Given the description of an element on the screen output the (x, y) to click on. 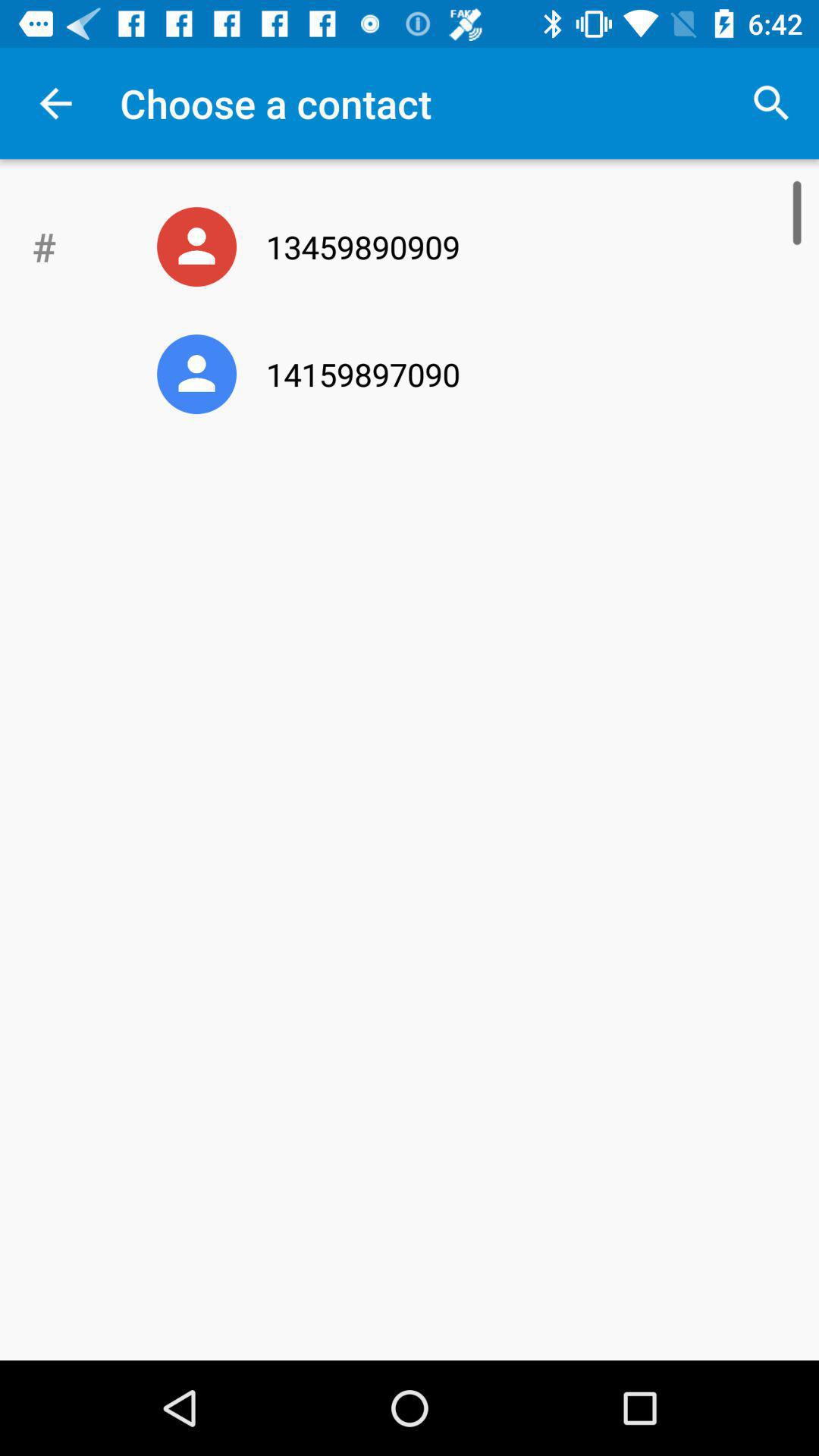
choose item at the top right corner (771, 103)
